Given the description of an element on the screen output the (x, y) to click on. 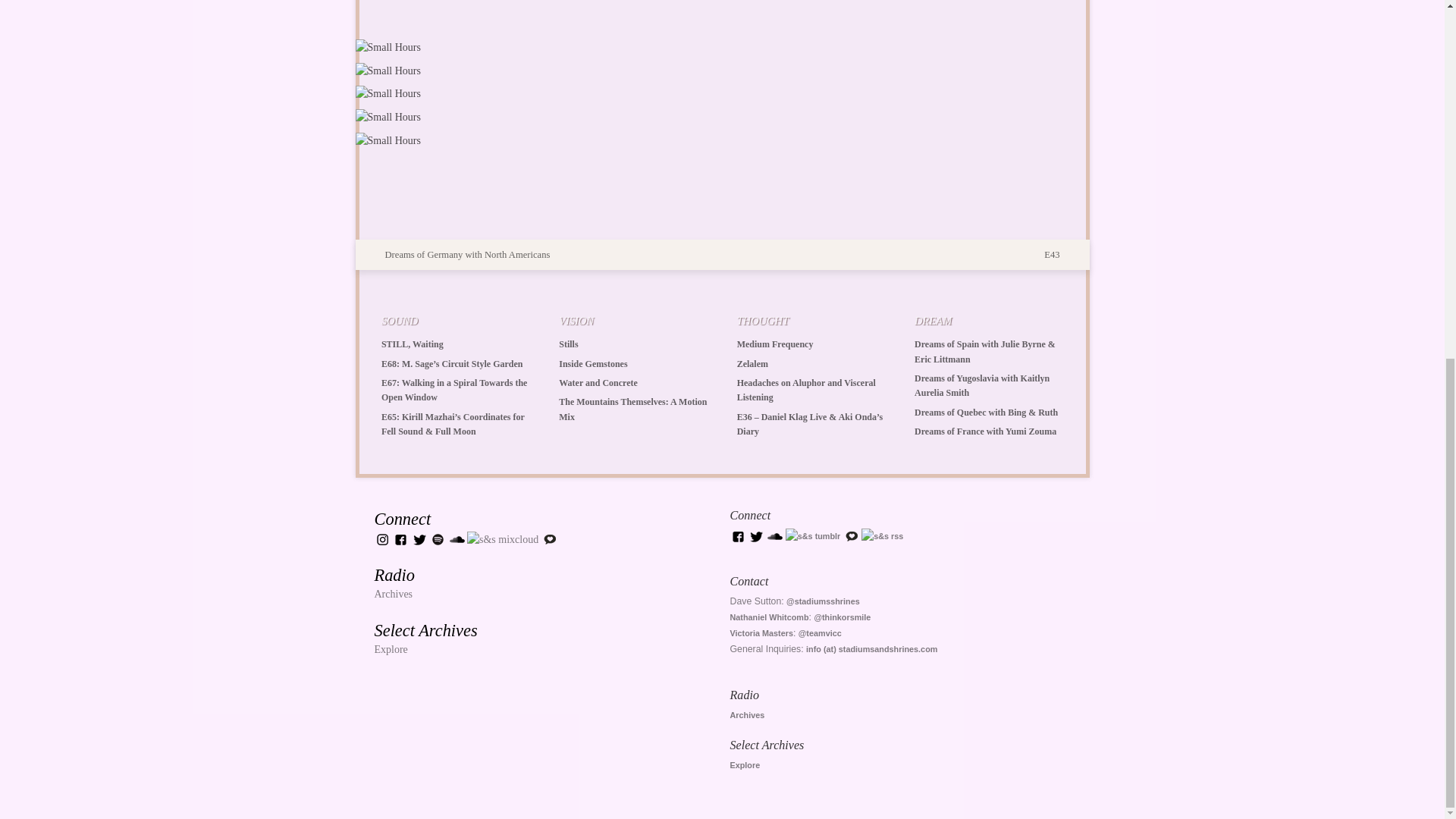
E67: Walking in a Spiral Towards the Open Window (454, 389)
The Mountains Themselves: A Motion Mix (632, 408)
Headaches on Aluphor and Visceral Listening (806, 389)
Permanent link to Inside Gemstones (593, 363)
Permanent link to The Mountains Themselves: A Motion Mix (632, 408)
Stills (568, 344)
Water and Concrete (598, 382)
STILL, Waiting (412, 344)
Dreams of France with Yumi Zouma (985, 430)
Permanent link to Medium Frequency (774, 344)
Inside Gemstones (593, 363)
Dreams of Yugoslavia with Kaitlyn Aurelia Smith (981, 385)
Permanent link to Water and Concrete (598, 382)
E43 (1060, 254)
Zelalem (752, 363)
